Given the description of an element on the screen output the (x, y) to click on. 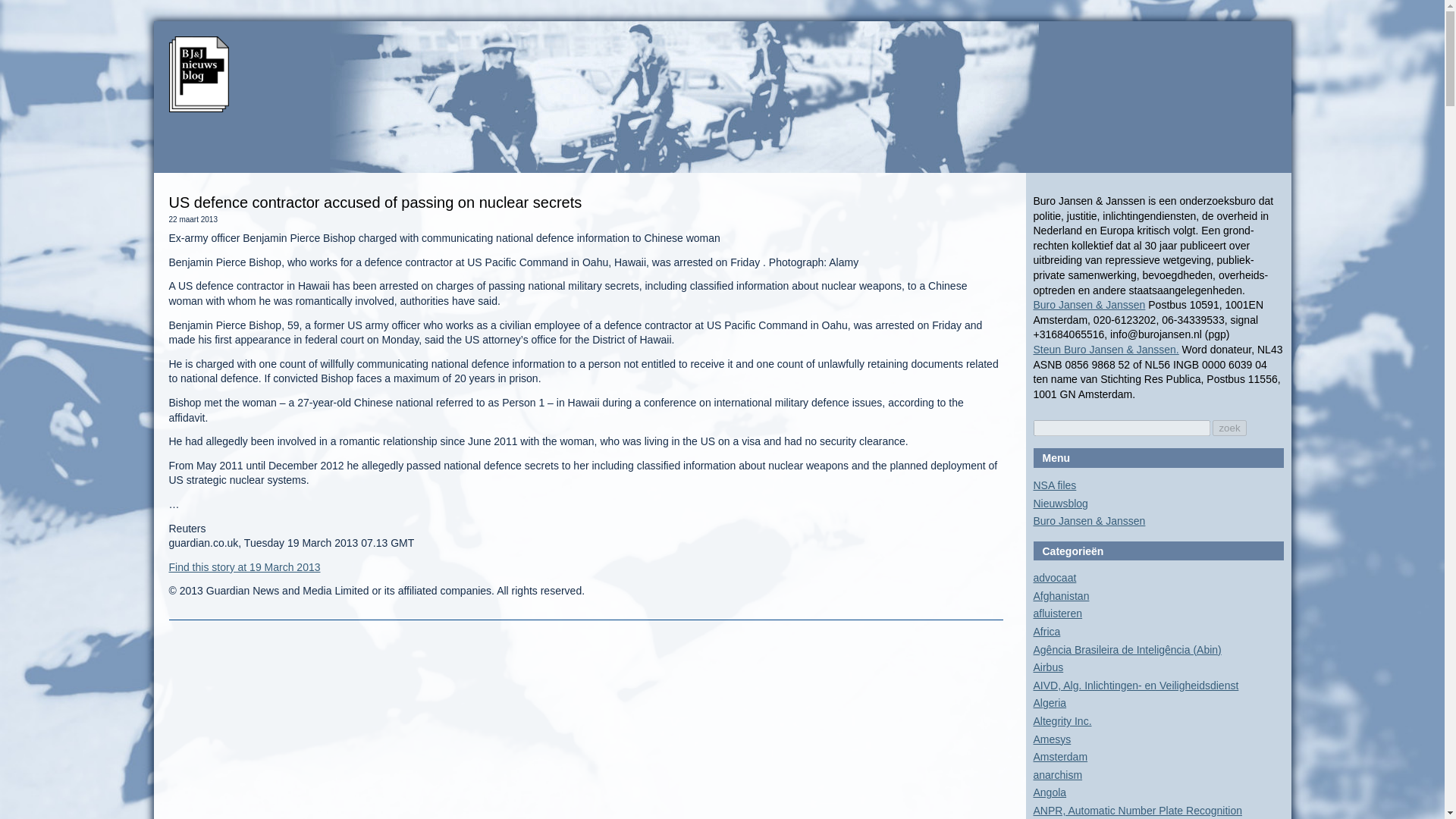
Airbus (1047, 666)
zoek (1229, 427)
Angola (1048, 792)
advocaat (1053, 577)
anarchism (1056, 775)
zoek (1229, 427)
Africa (1045, 631)
ANPR, Automatic Number Plate Recognition (1136, 810)
Afghanistan (1060, 595)
Algeria (1048, 702)
Nieuwsblog (1059, 503)
Amesys (1051, 739)
NSA files (1053, 485)
Amsterdam (1059, 756)
AIVD, Alg. Inlichtingen- en Veiligheidsdienst (1135, 685)
